Given the description of an element on the screen output the (x, y) to click on. 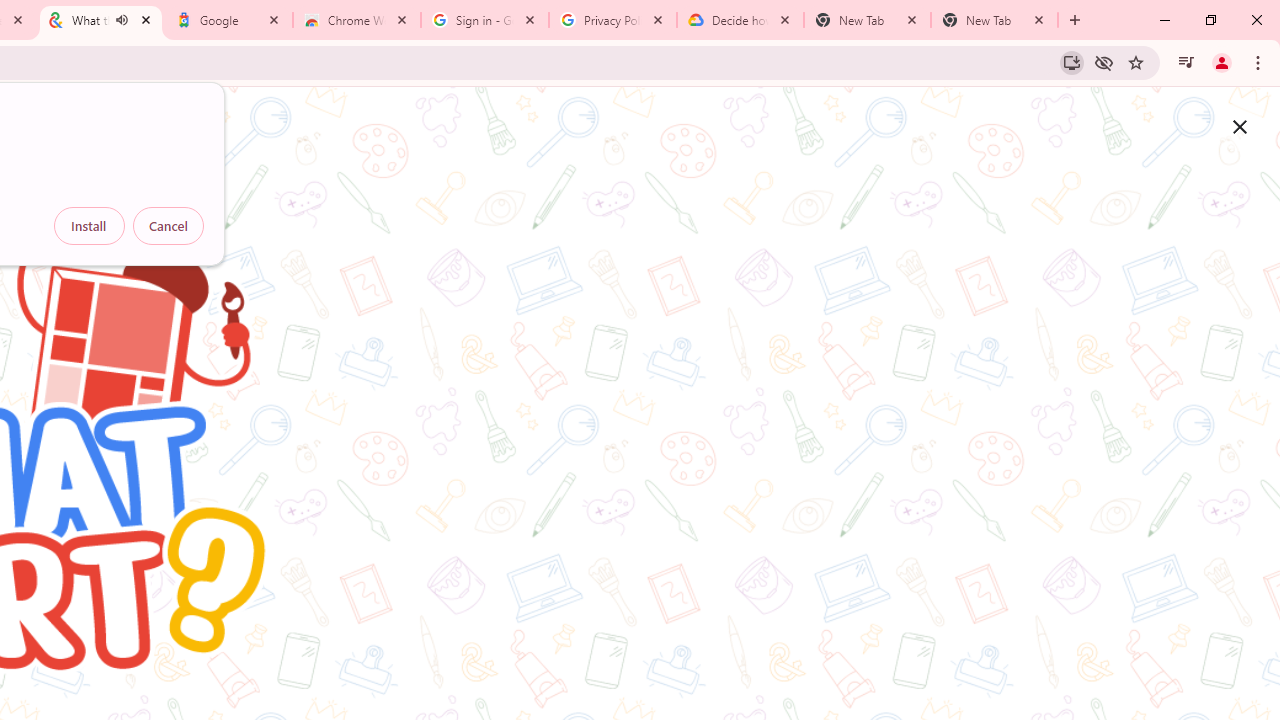
Cancel (168, 225)
New Tab (994, 20)
Mute tab (121, 20)
Control your music, videos, and more (1185, 62)
Sign in - Google Accounts (485, 20)
Quit Game (1240, 126)
Install Google Arts & Culture (1071, 62)
Third-party cookies blocked (1103, 62)
